Given the description of an element on the screen output the (x, y) to click on. 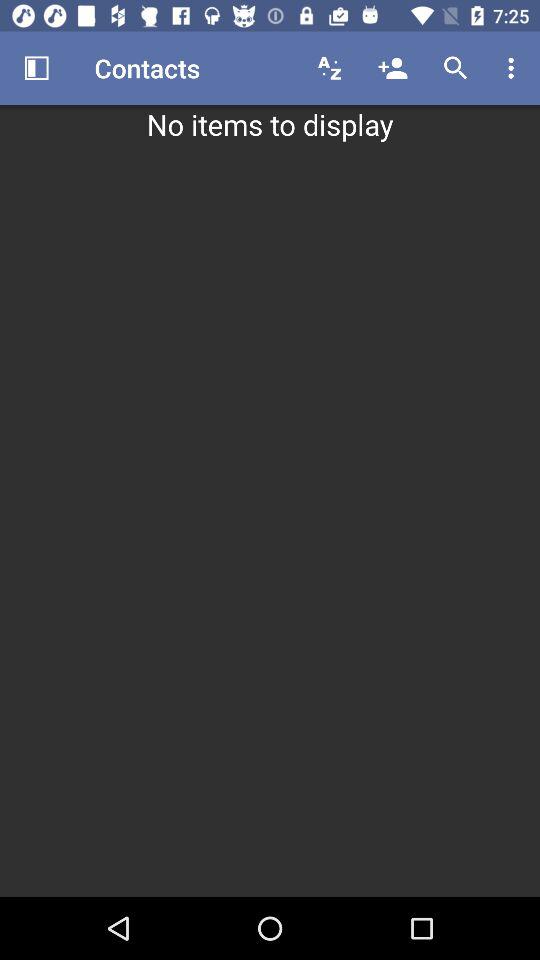
turn off the icon above the no items to icon (455, 67)
